Given the description of an element on the screen output the (x, y) to click on. 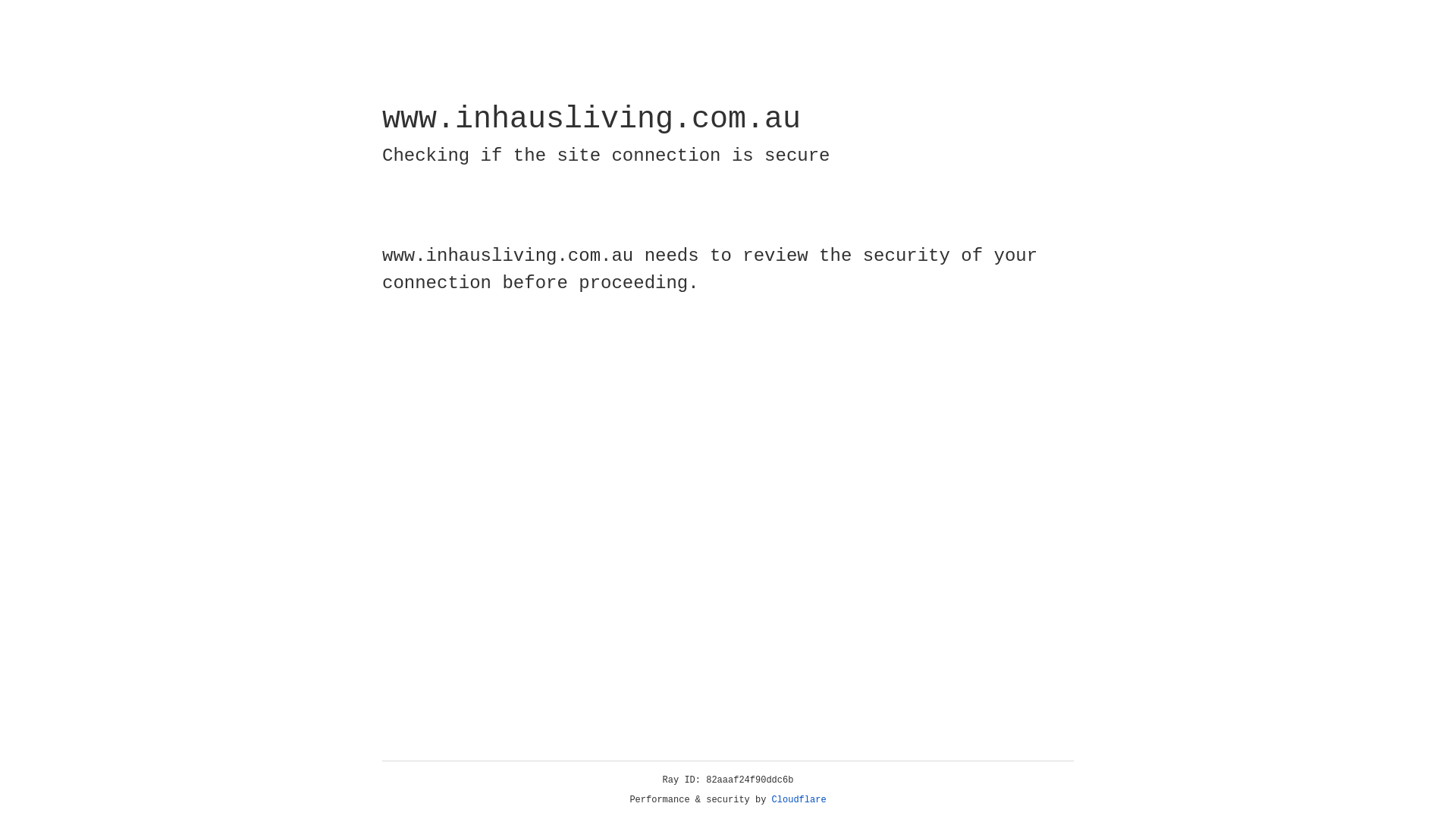
Cloudflare Element type: text (798, 799)
